Given the description of an element on the screen output the (x, y) to click on. 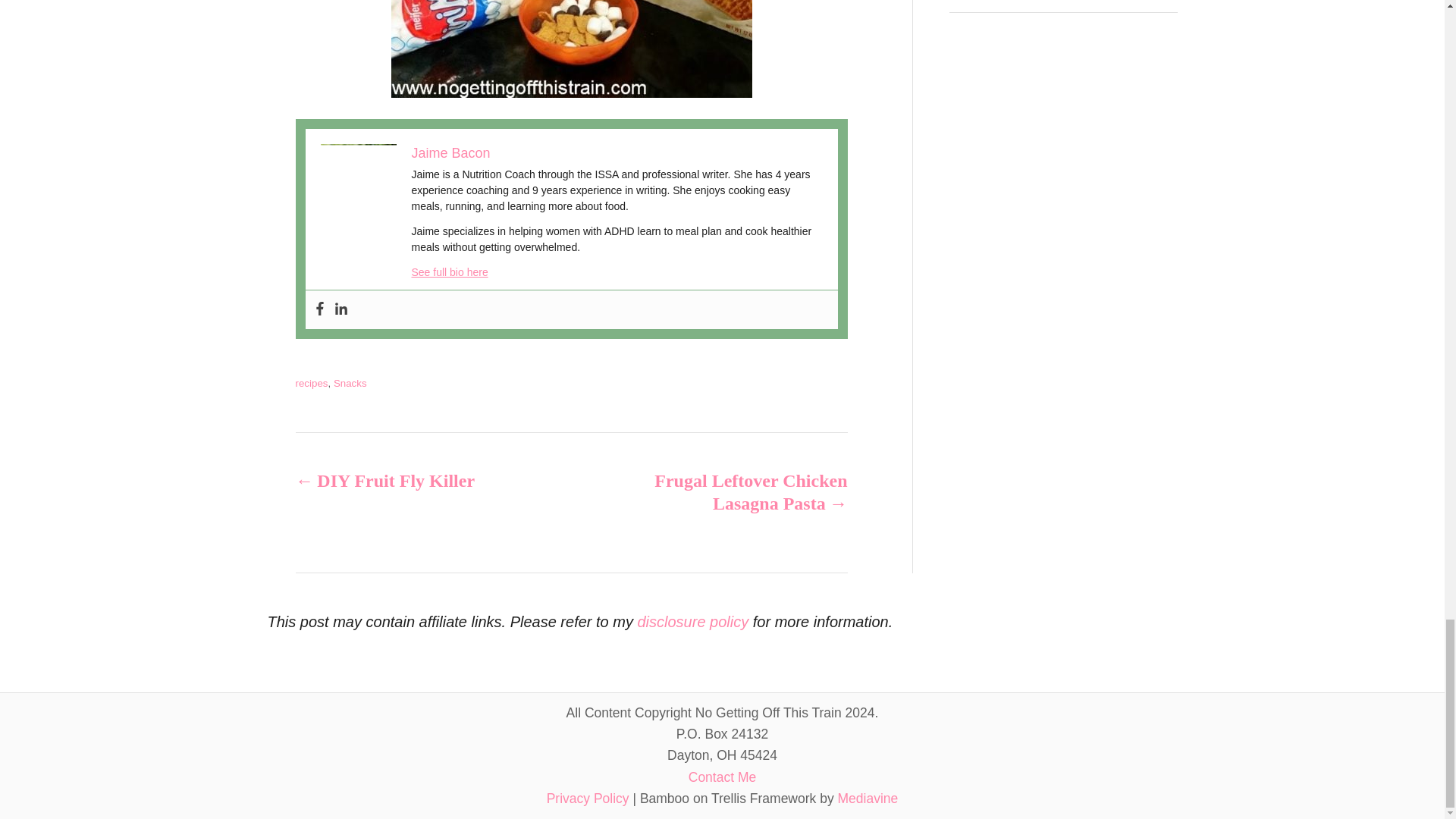
DIY Fruit Fly Killer (405, 480)
Snacks (349, 383)
See full bio here (448, 272)
Privacy Policy (587, 798)
Contact Me (721, 776)
Frugal Leftover Chicken Lasagna Pasta (736, 492)
recipes (312, 383)
Jaime Bacon (449, 152)
disclosure policy (692, 621)
Mediavine (868, 798)
